Given the description of an element on the screen output the (x, y) to click on. 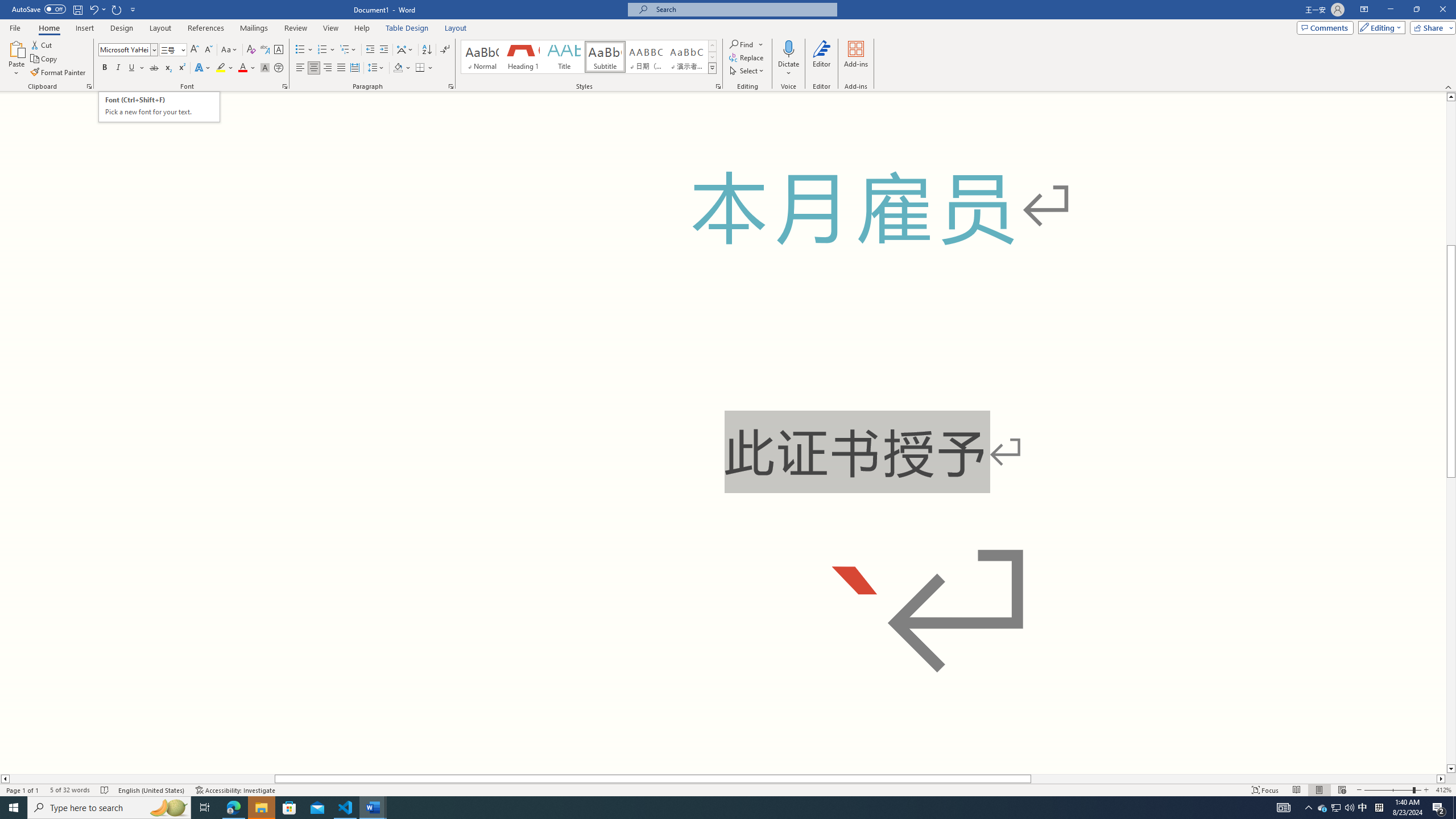
Column right (1441, 778)
Subtitle (605, 56)
Page up (1450, 172)
